Given the description of an element on the screen output the (x, y) to click on. 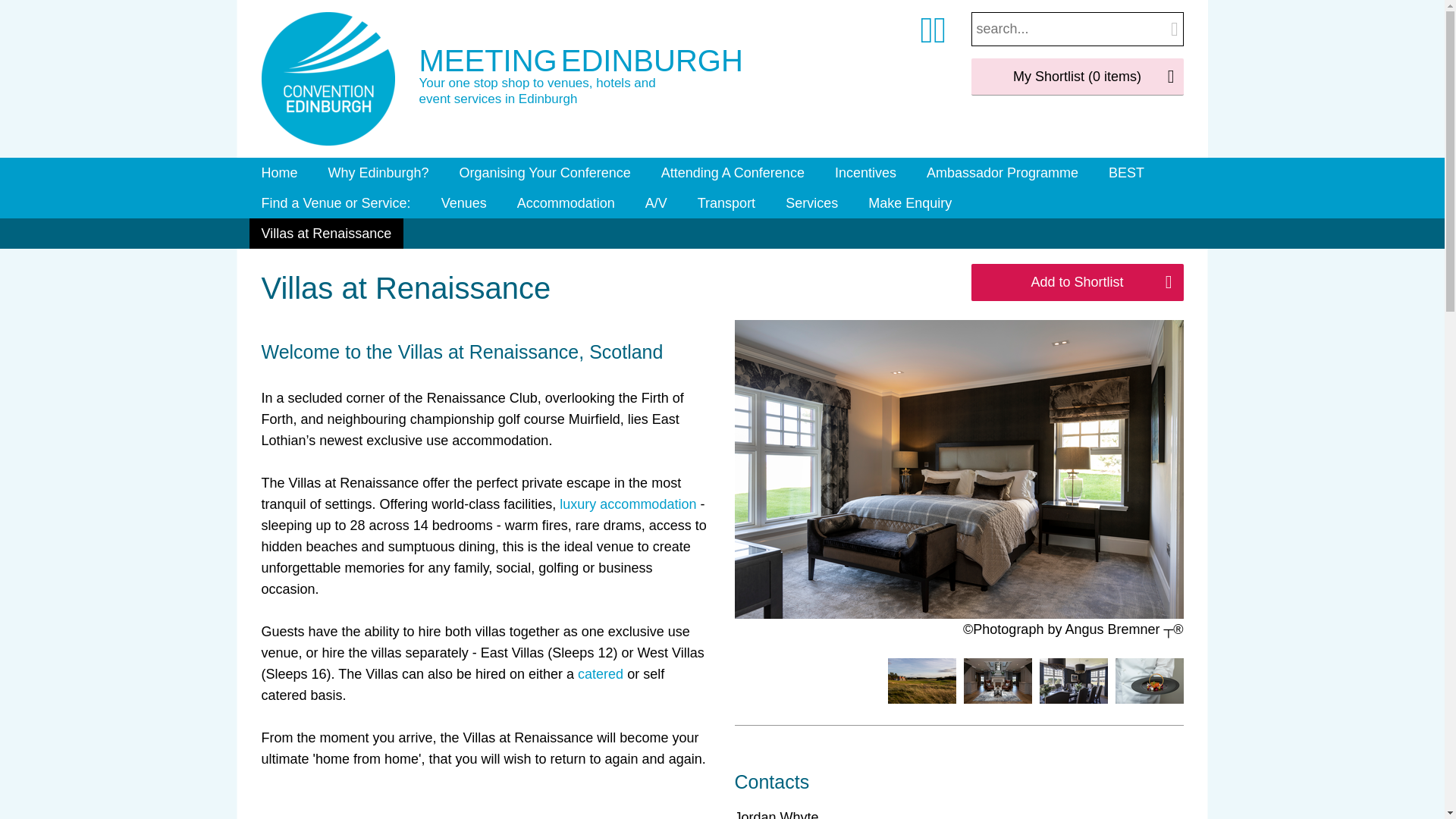
Venues (464, 203)
Accommodation (566, 203)
Organising Your Conference (544, 173)
Ambassador Programme (1002, 173)
Make Enquiry (909, 203)
BEST (1126, 173)
Villas at Renaissance (325, 233)
Why Edinburgh? (378, 173)
